Given the description of an element on the screen output the (x, y) to click on. 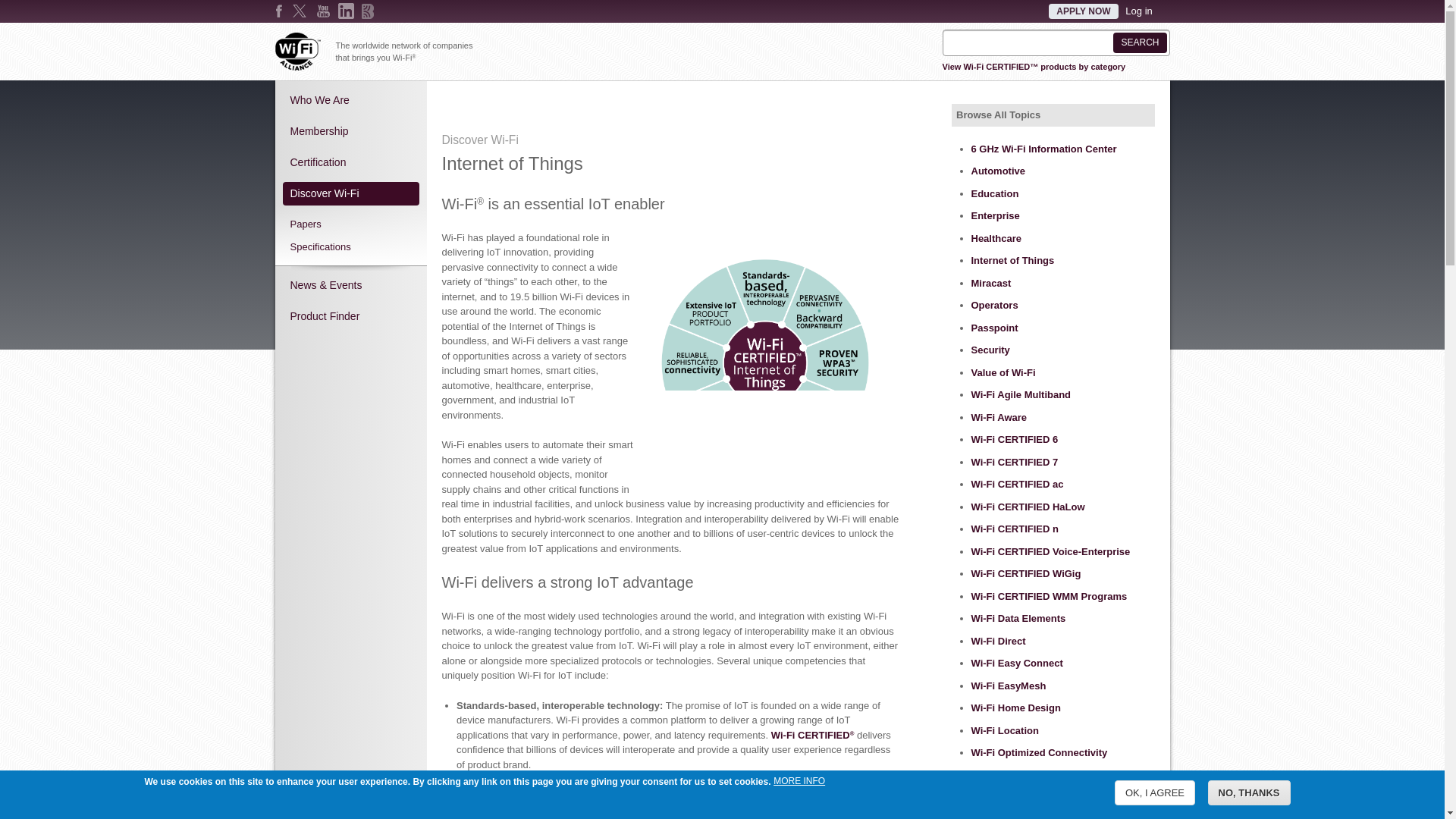
SEARCH (1139, 42)
Log in (1138, 10)
Share to X (472, 103)
Certification (350, 162)
SEARCH (1139, 42)
Specifications (350, 246)
Share to Linkedin (494, 103)
Share to Email (515, 103)
Who We Are (350, 100)
Share to Facebook (452, 103)
